Given the description of an element on the screen output the (x, y) to click on. 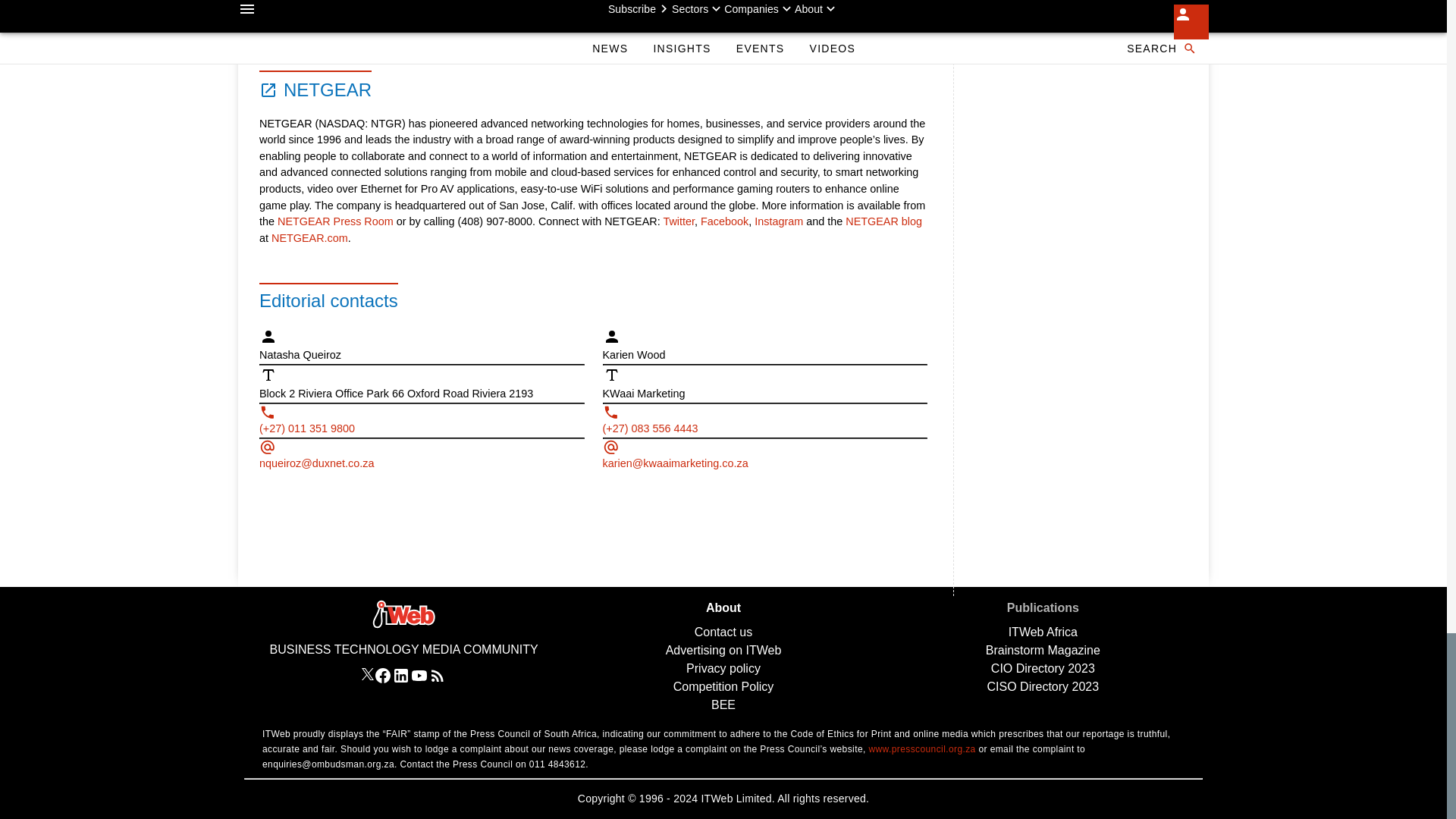
NETGEAR Press Room (337, 221)
NETGEAR blog (883, 221)
NETGEAR (315, 87)
Facebook (724, 221)
NETGEAR.com (308, 237)
Instagram (778, 221)
Twitter (678, 221)
